Given the description of an element on the screen output the (x, y) to click on. 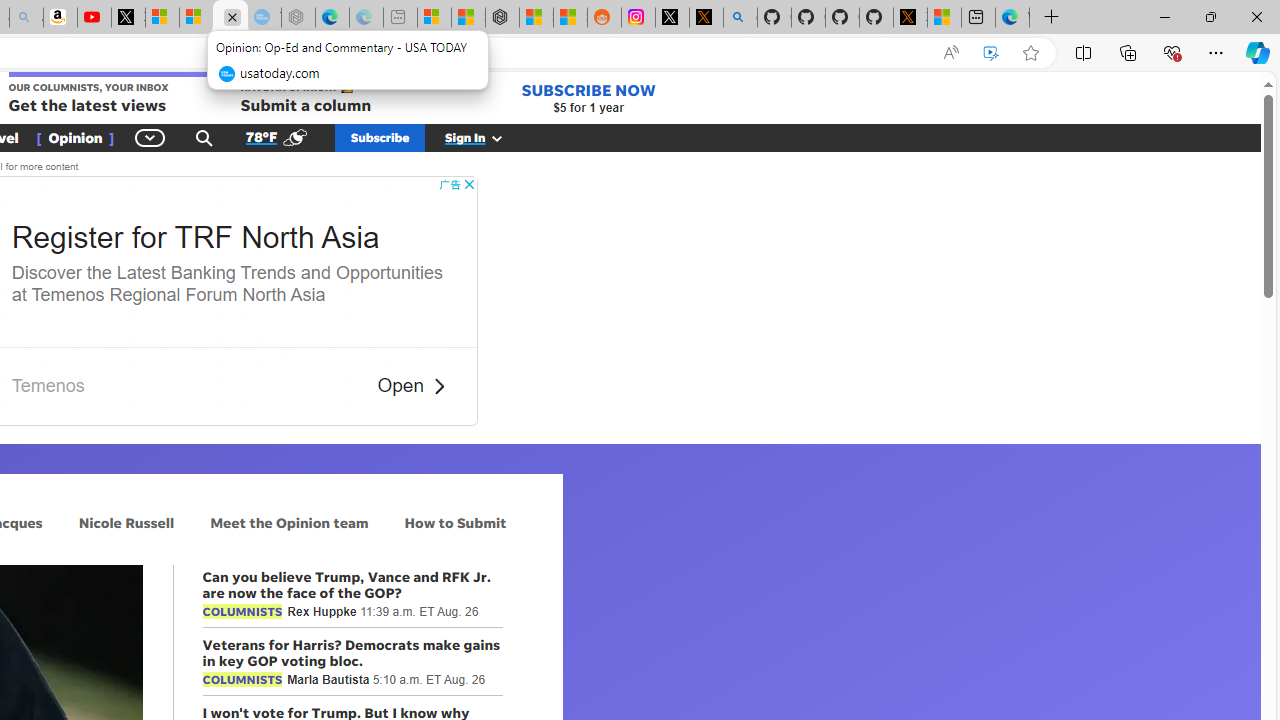
Nordace - Nordace has arrived Hong Kong - Sleeping (297, 17)
Welcome to Microsoft Edge (1012, 17)
Close tab (232, 16)
Microsoft account | Microsoft Account Privacy Settings (434, 17)
Search (203, 137)
Class: gnt_n_us_a_svg (493, 137)
New tab - Sleeping (400, 17)
Settings and more (Alt+F) (1215, 52)
Copilot (Ctrl+Shift+.) (1258, 52)
New Tab (1052, 17)
Browser essentials (1171, 52)
